Given the description of an element on the screen output the (x, y) to click on. 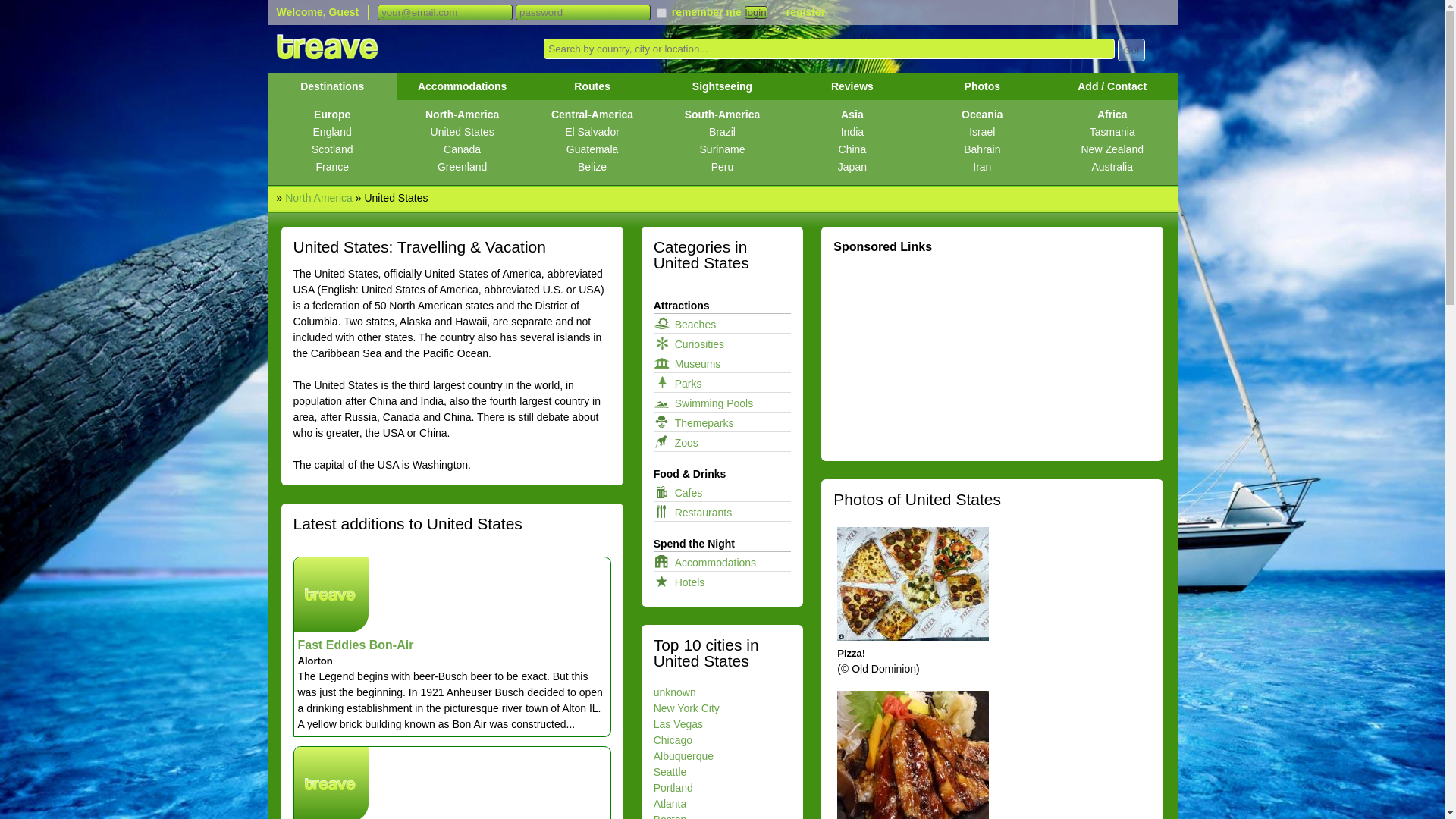
Reviews (852, 85)
Scotland (331, 149)
Brazil (722, 131)
Greenland (462, 167)
register (805, 11)
Canada (462, 149)
Sightseeing (722, 85)
remember (661, 13)
login (755, 11)
El Salvador (591, 131)
Belize (591, 167)
Routes (591, 85)
Photos (981, 85)
United States (462, 131)
Guatemala (591, 149)
